Given the description of an element on the screen output the (x, y) to click on. 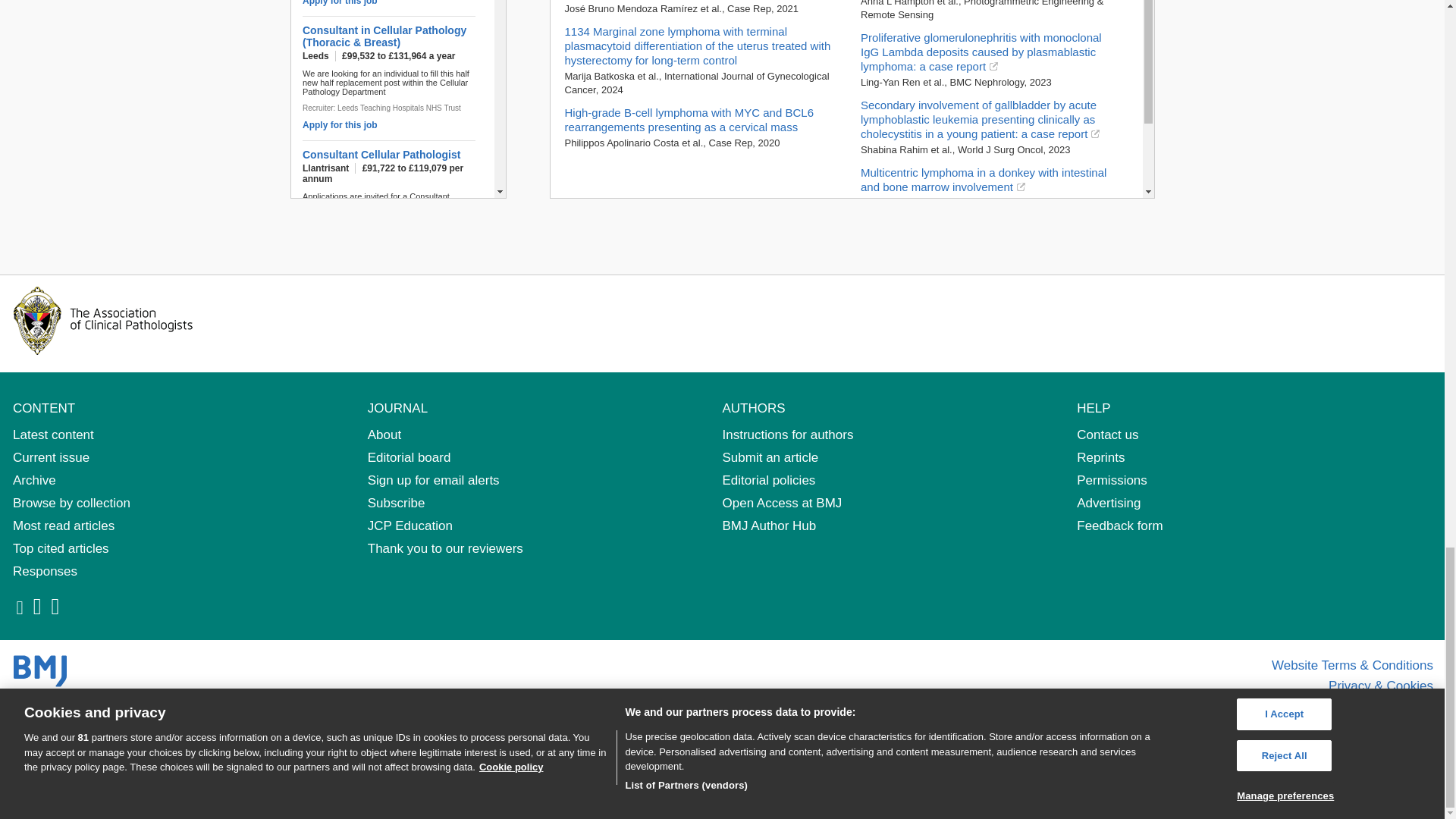
careers widget (397, 99)
